Given the description of an element on the screen output the (x, y) to click on. 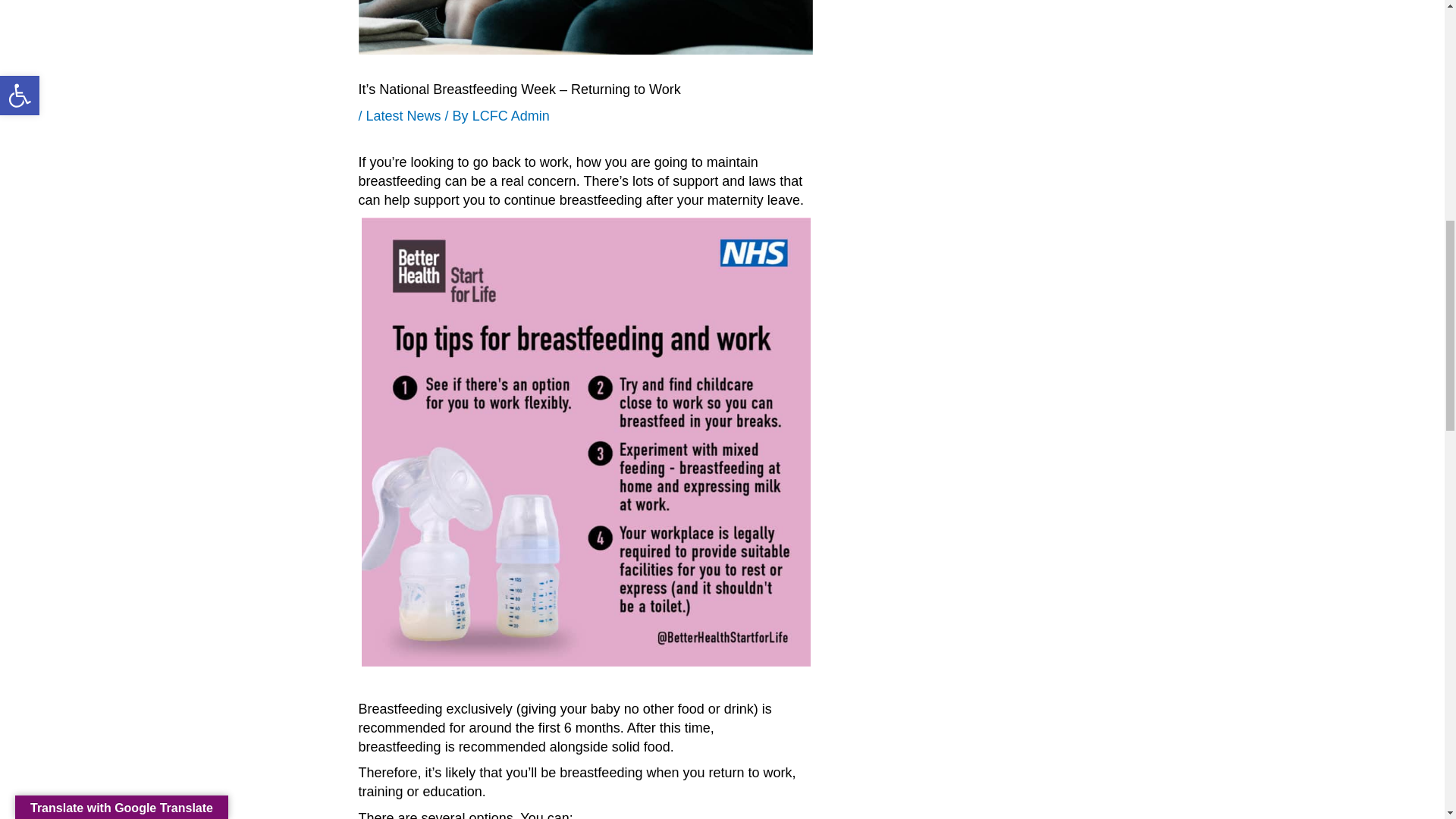
Latest News (403, 115)
LCFC Admin (510, 115)
View all posts by LCFC Admin (510, 115)
